Given the description of an element on the screen output the (x, y) to click on. 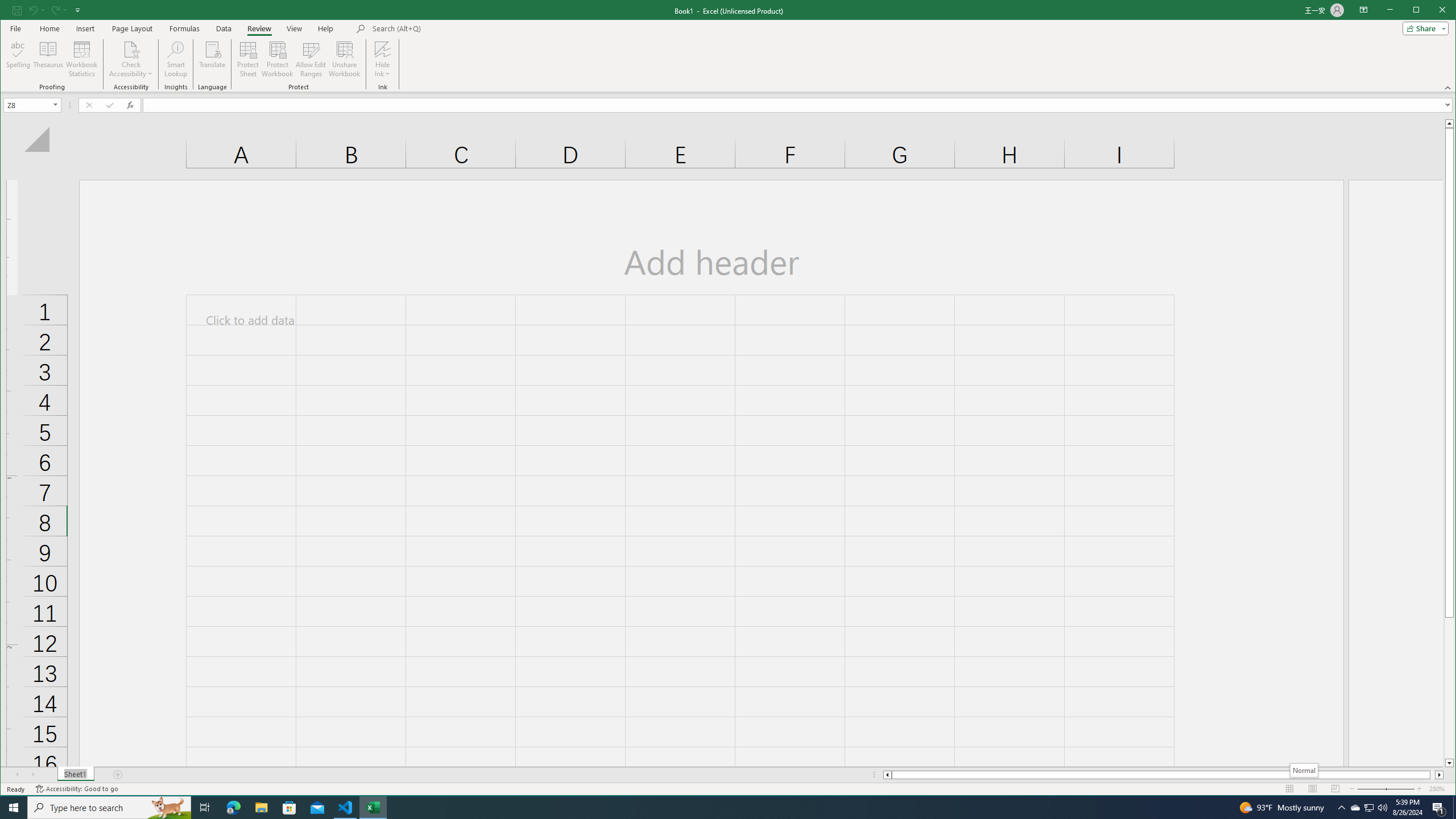
Maximize (1432, 11)
Zoom (1384, 788)
Zoom Out (1378, 788)
Protect Workbook... (277, 59)
Spelling... (18, 59)
Hide Ink (382, 59)
Ribbon Display Options (1364, 9)
Zoom In (1419, 788)
Review (259, 28)
Show desktop (1454, 807)
Home (49, 28)
Start (13, 807)
